Given the description of an element on the screen output the (x, y) to click on. 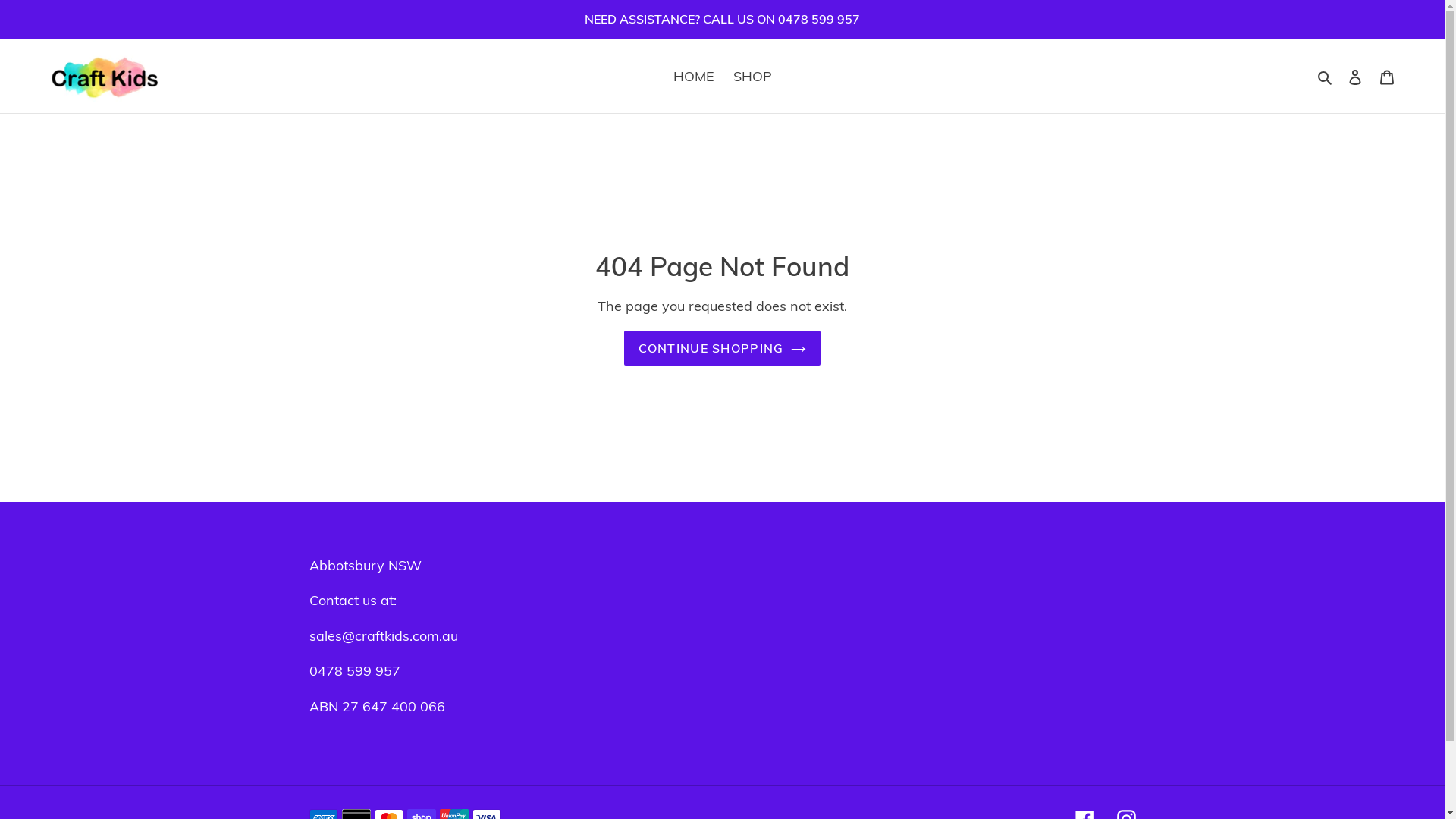
Log in Element type: text (1355, 75)
Search Element type: text (1325, 76)
CONTINUE SHOPPING Element type: text (722, 347)
Cart Element type: text (1386, 75)
SHOP Element type: text (751, 75)
HOME Element type: text (693, 75)
